Given the description of an element on the screen output the (x, y) to click on. 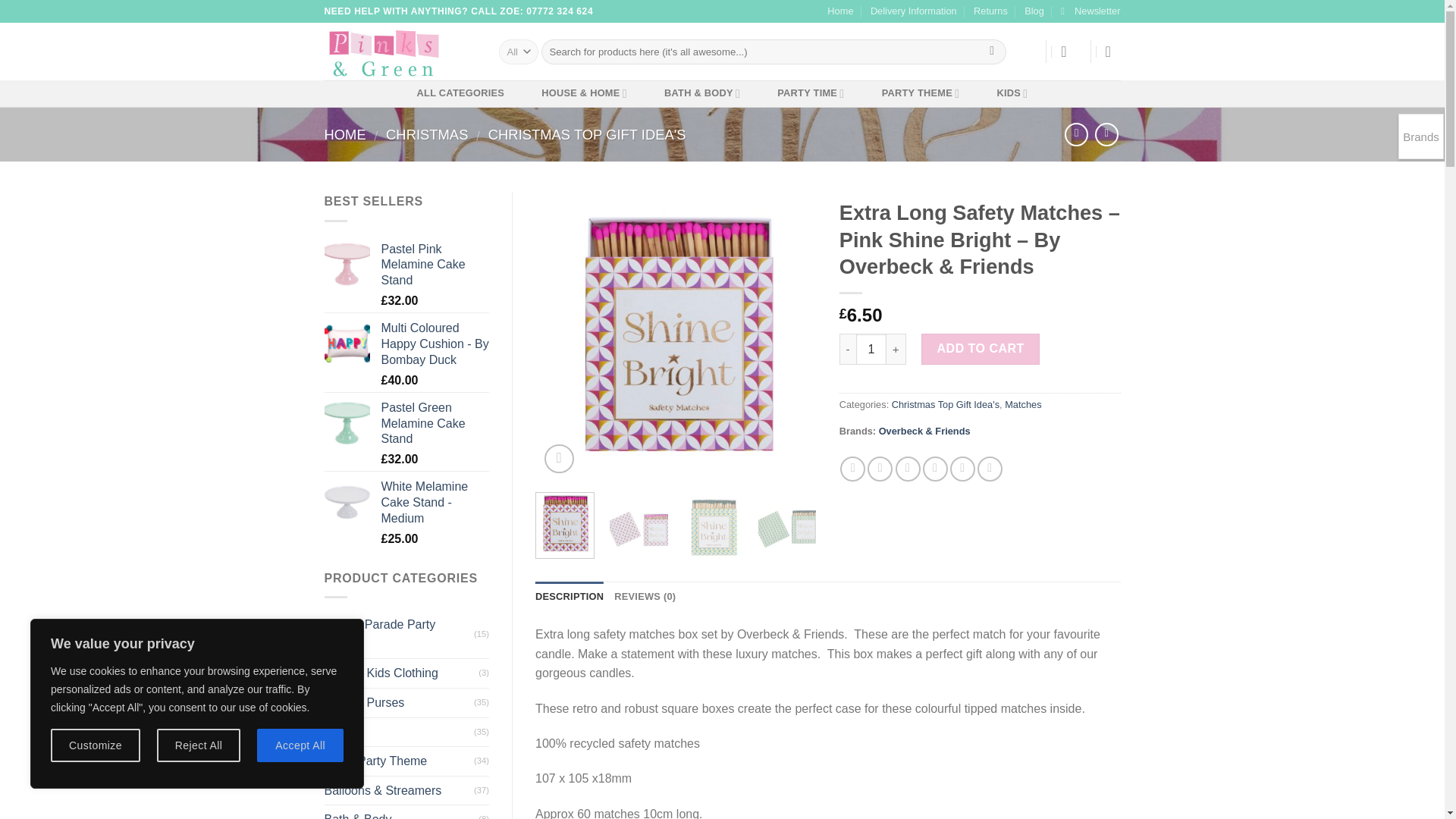
Returns (990, 11)
Qty (871, 348)
Newsletter (1090, 11)
1 (871, 348)
Accept All (300, 745)
Customize (94, 745)
ALL CATEGORIES (460, 93)
Reject All (199, 745)
shine bright matches3 (675, 335)
Home (840, 11)
Delivery Information (913, 11)
